Given the description of an element on the screen output the (x, y) to click on. 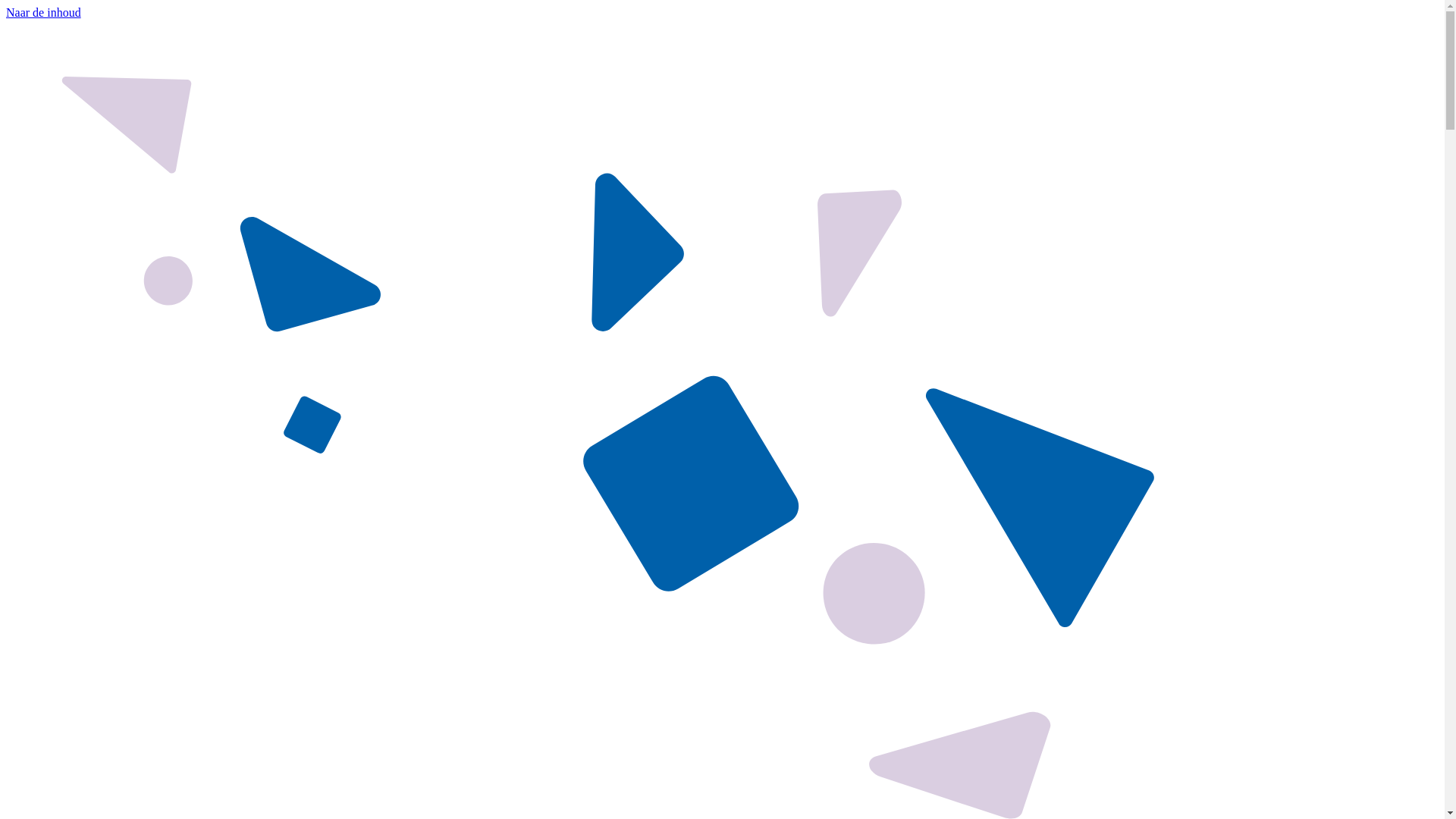
Naar de inhoud Element type: text (43, 12)
